Given the description of an element on the screen output the (x, y) to click on. 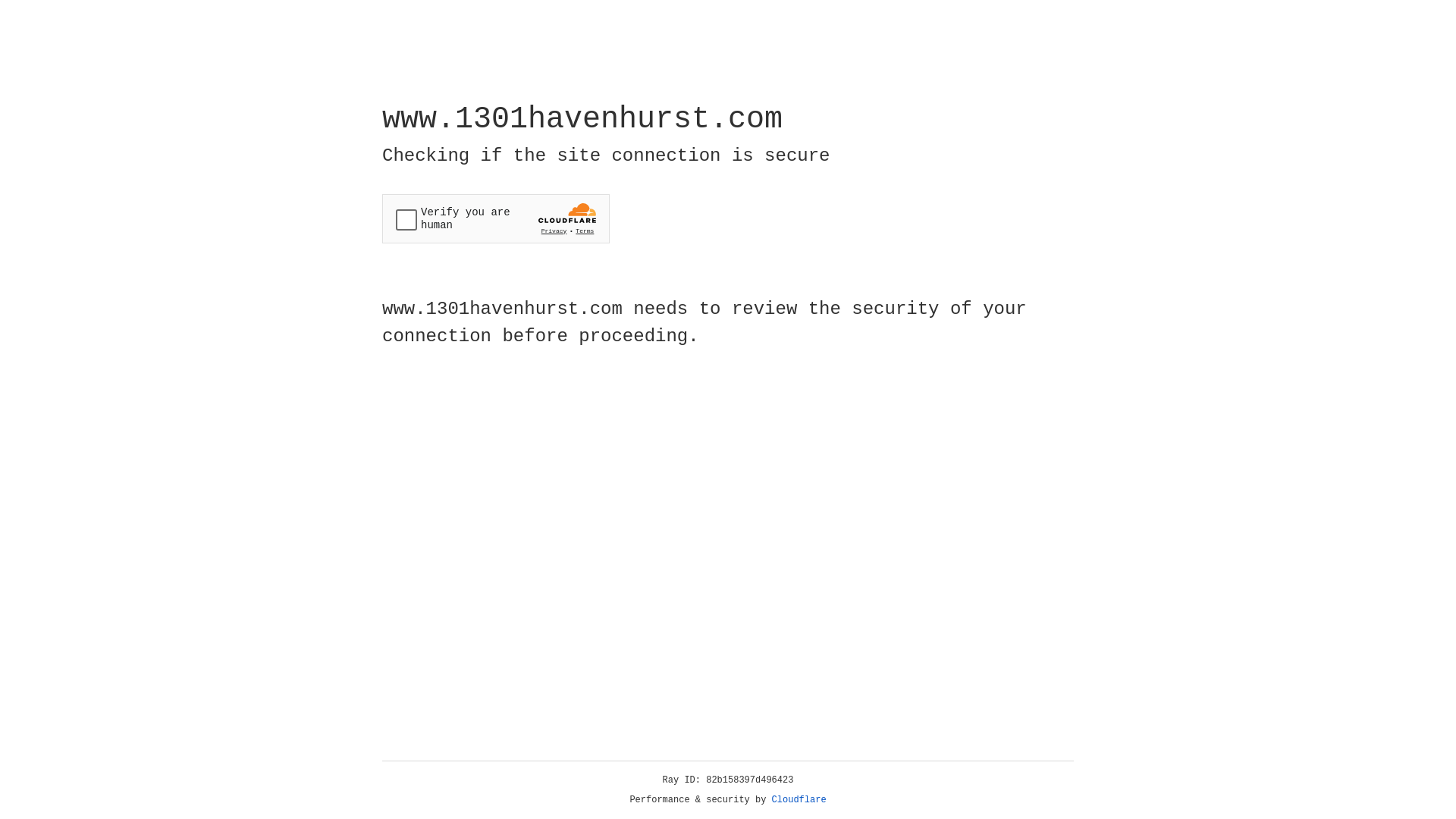
Widget containing a Cloudflare security challenge Element type: hover (495, 218)
Cloudflare Element type: text (798, 799)
